Given the description of an element on the screen output the (x, y) to click on. 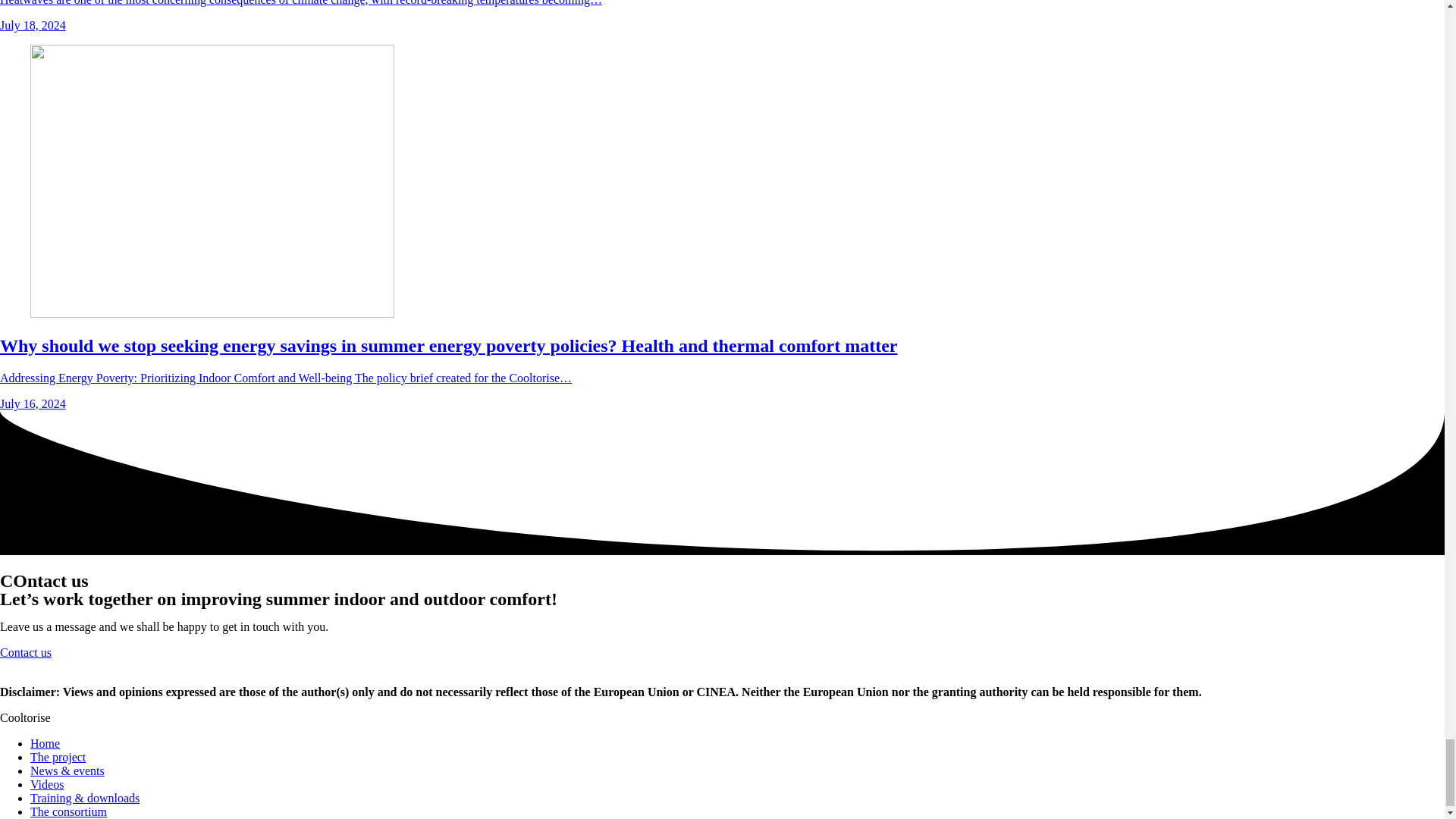
The project (57, 757)
Home (44, 743)
Contact us (25, 652)
